Given the description of an element on the screen output the (x, y) to click on. 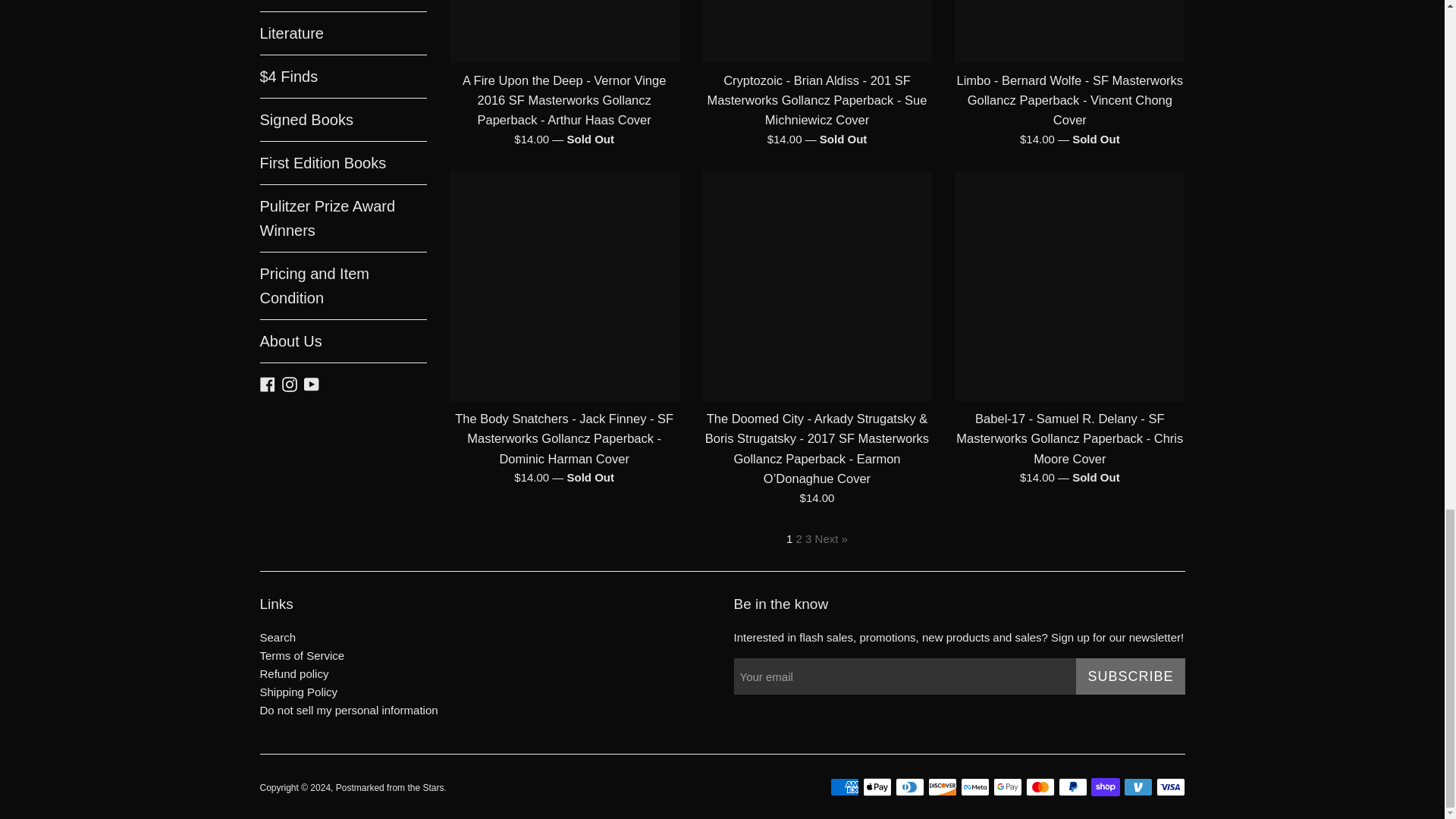
Shop Pay (1104, 787)
Venmo (1138, 787)
Apple Pay (877, 787)
Google Pay (1007, 787)
Postmarked from the Stars on YouTube (311, 382)
Mastercard (1039, 787)
Signed Books (342, 119)
